Given the description of an element on the screen output the (x, y) to click on. 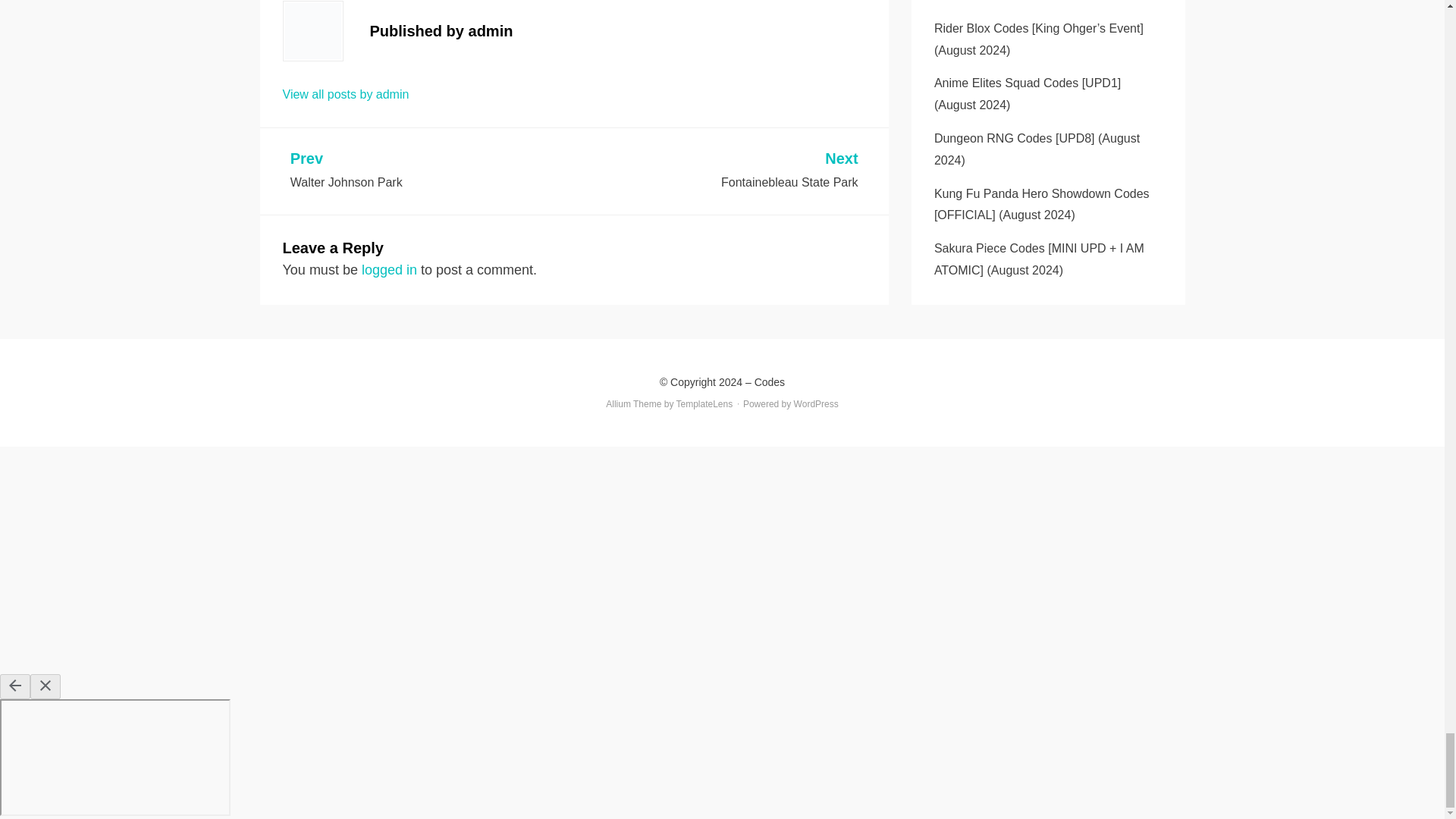
Codes (769, 381)
TemplateLens (705, 403)
View all posts by admin (717, 170)
TemplateLens (345, 93)
WordPress (705, 403)
logged in (815, 403)
WordPress (388, 269)
